Given the description of an element on the screen output the (x, y) to click on. 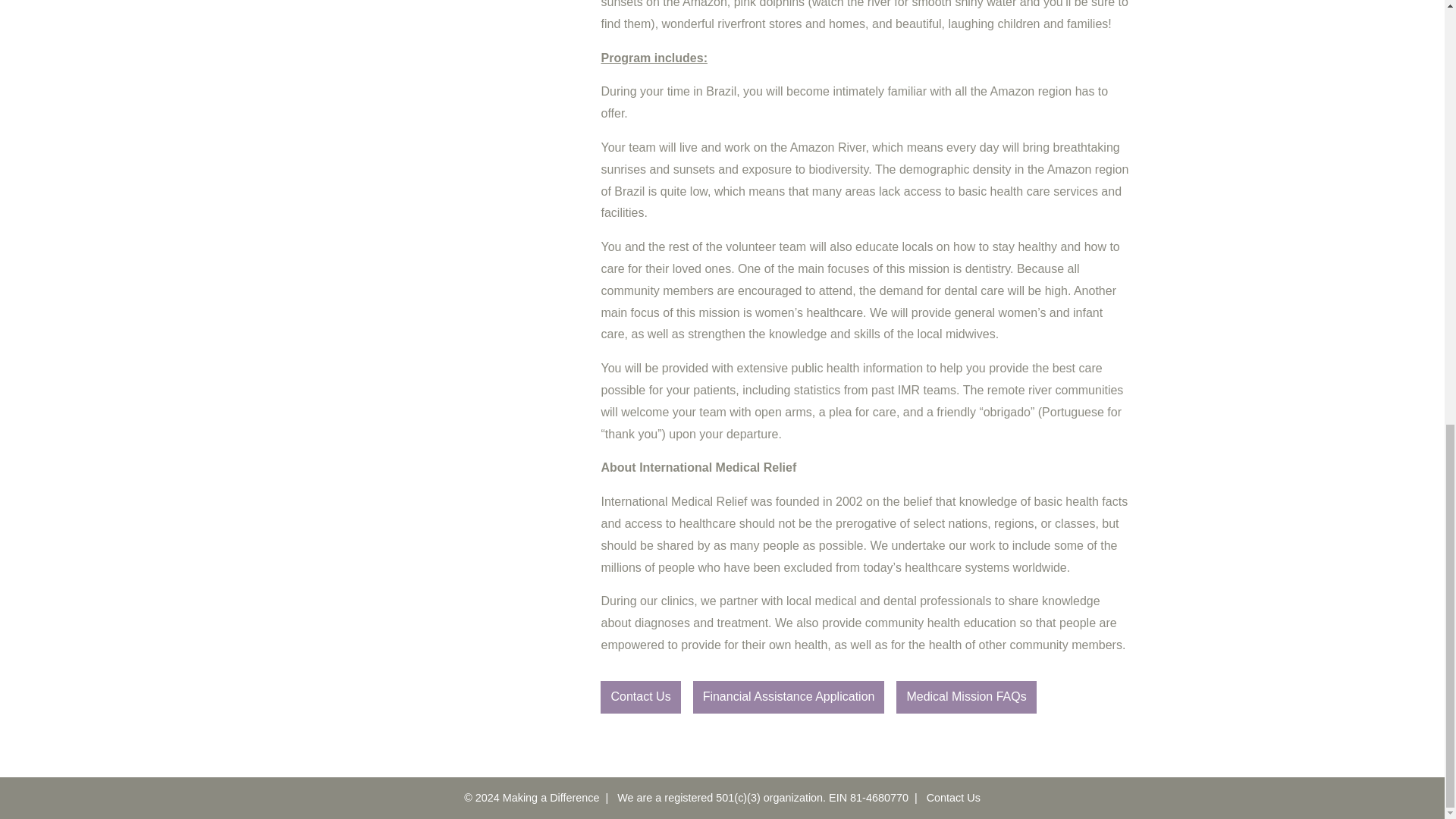
Contact Us (952, 797)
Medical Mission FAQs (965, 696)
Financial Assistance Application (789, 696)
Contact Us (639, 696)
